Given the description of an element on the screen output the (x, y) to click on. 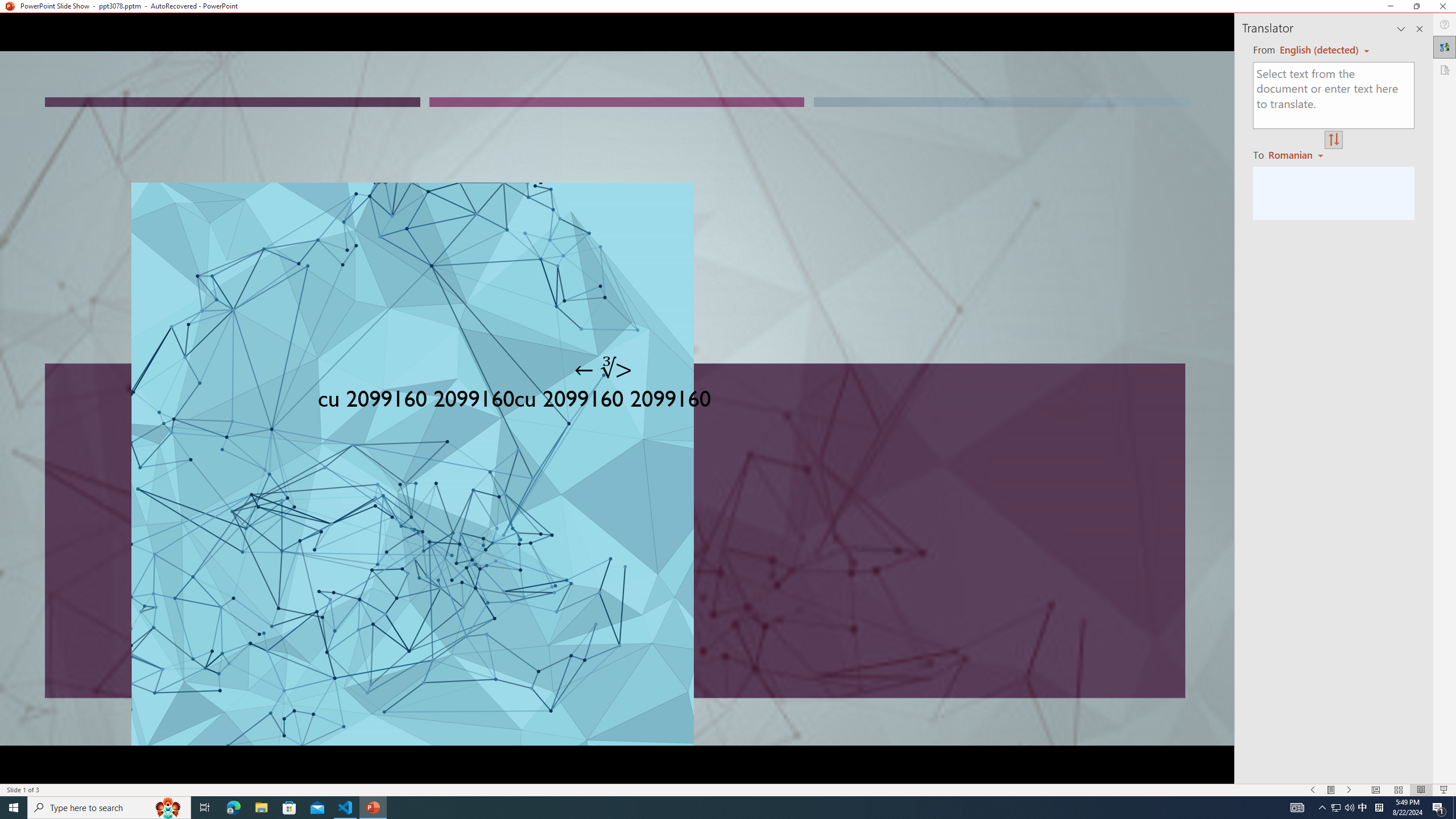
Romanian (1296, 154)
Slide Show Next On (1349, 790)
Menu On (1331, 790)
Czech (detected) (1319, 50)
